Given the description of an element on the screen output the (x, y) to click on. 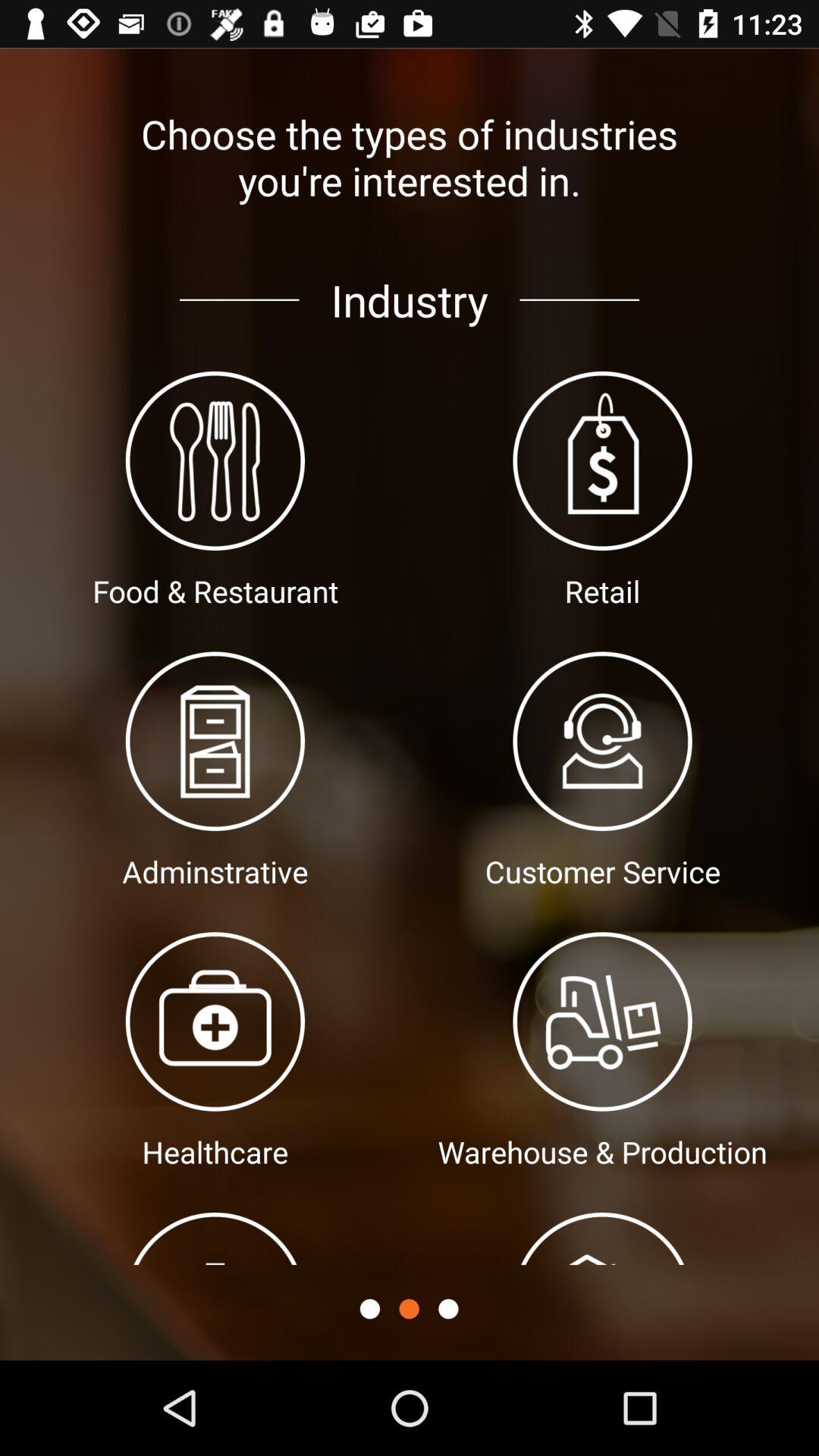
button setting icon (369, 1308)
